Given the description of an element on the screen output the (x, y) to click on. 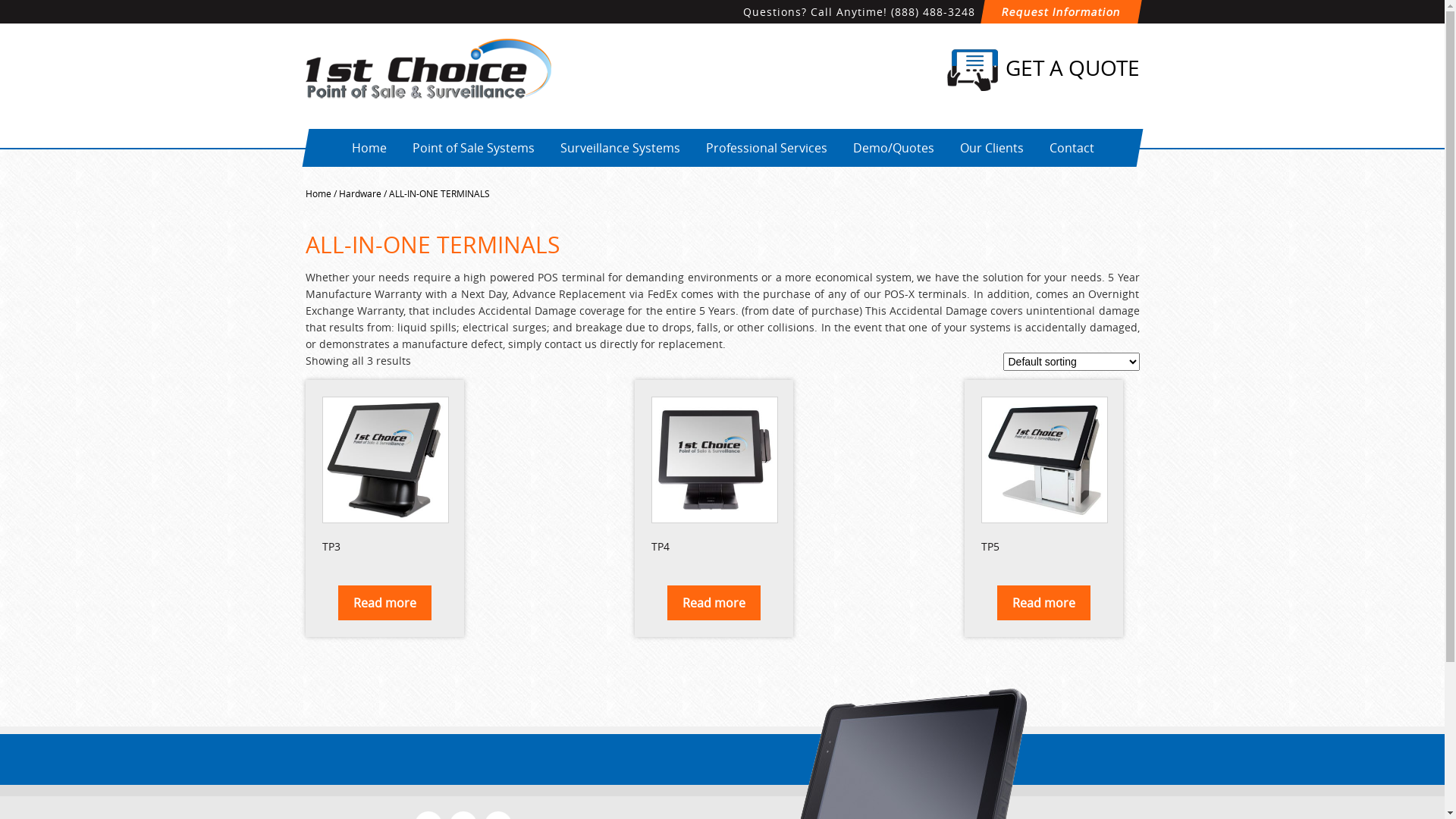
Read more Element type: text (384, 602)
Hardware Element type: text (359, 193)
Home Element type: text (368, 147)
TP5 Element type: text (1043, 477)
TP3 Element type: text (383, 477)
Read more Element type: text (1042, 602)
Our Clients Element type: text (990, 147)
Professional Services Element type: text (765, 147)
Contact Element type: text (1070, 147)
Home Element type: text (317, 193)
Surveillance Systems Element type: text (619, 147)
Skip to primary navigation Element type: text (0, 0)
TP4 Element type: text (713, 477)
Request Information Element type: text (1058, 11)
Point of Sale Systems Element type: text (472, 147)
Read more Element type: text (713, 602)
GET A QUOTE Element type: text (1042, 70)
Demo/Quotes Element type: text (892, 147)
